Given the description of an element on the screen output the (x, y) to click on. 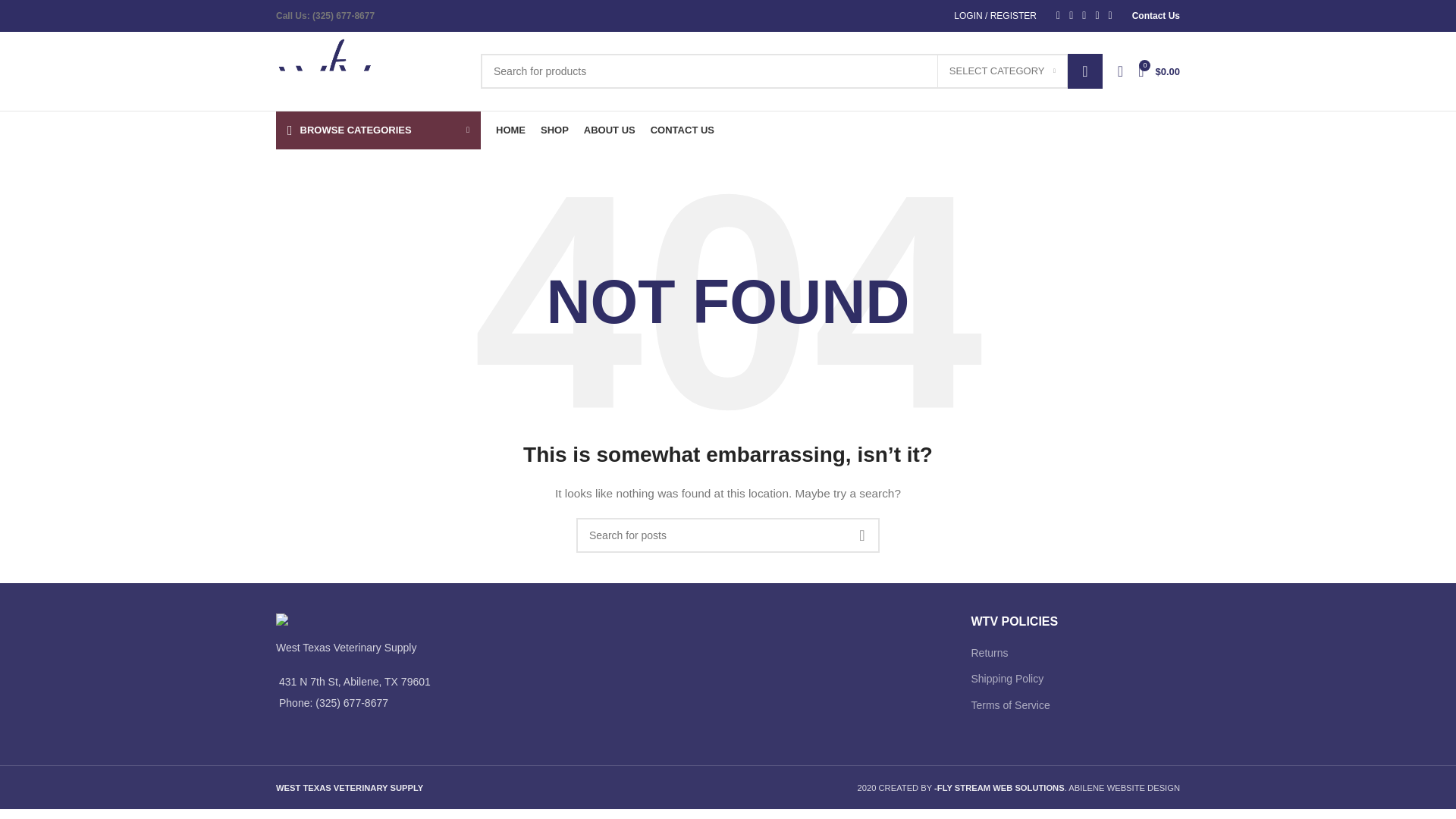
Search for products (791, 71)
SELECT CATEGORY (1002, 70)
SELECT CATEGORY (1002, 70)
My account (994, 15)
Shopping cart (1159, 71)
Log in (911, 275)
Search for posts (727, 534)
